Given the description of an element on the screen output the (x, y) to click on. 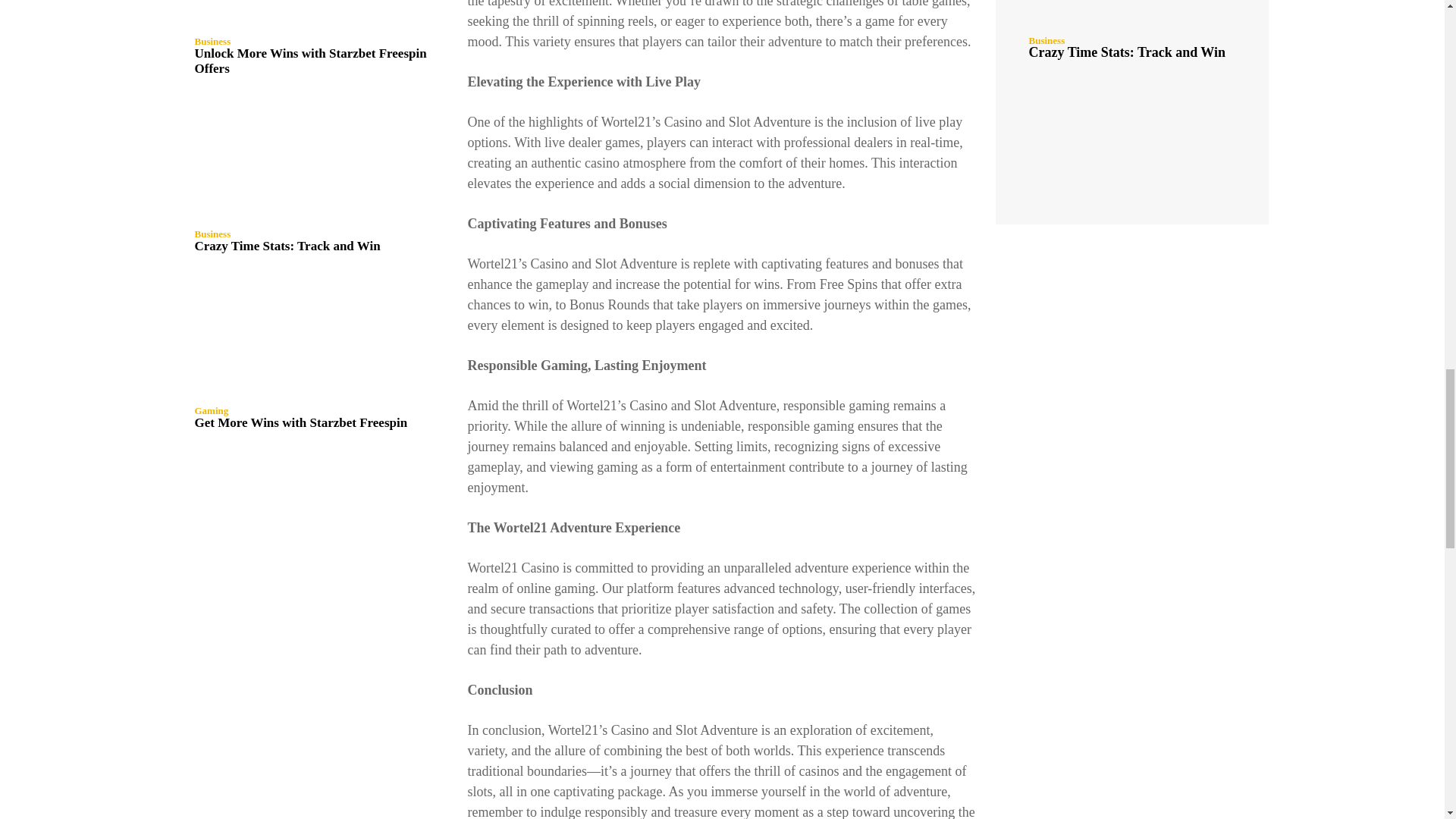
Unlock More Wins with Starzbet Freespin Offers (311, 13)
